Given the description of an element on the screen output the (x, y) to click on. 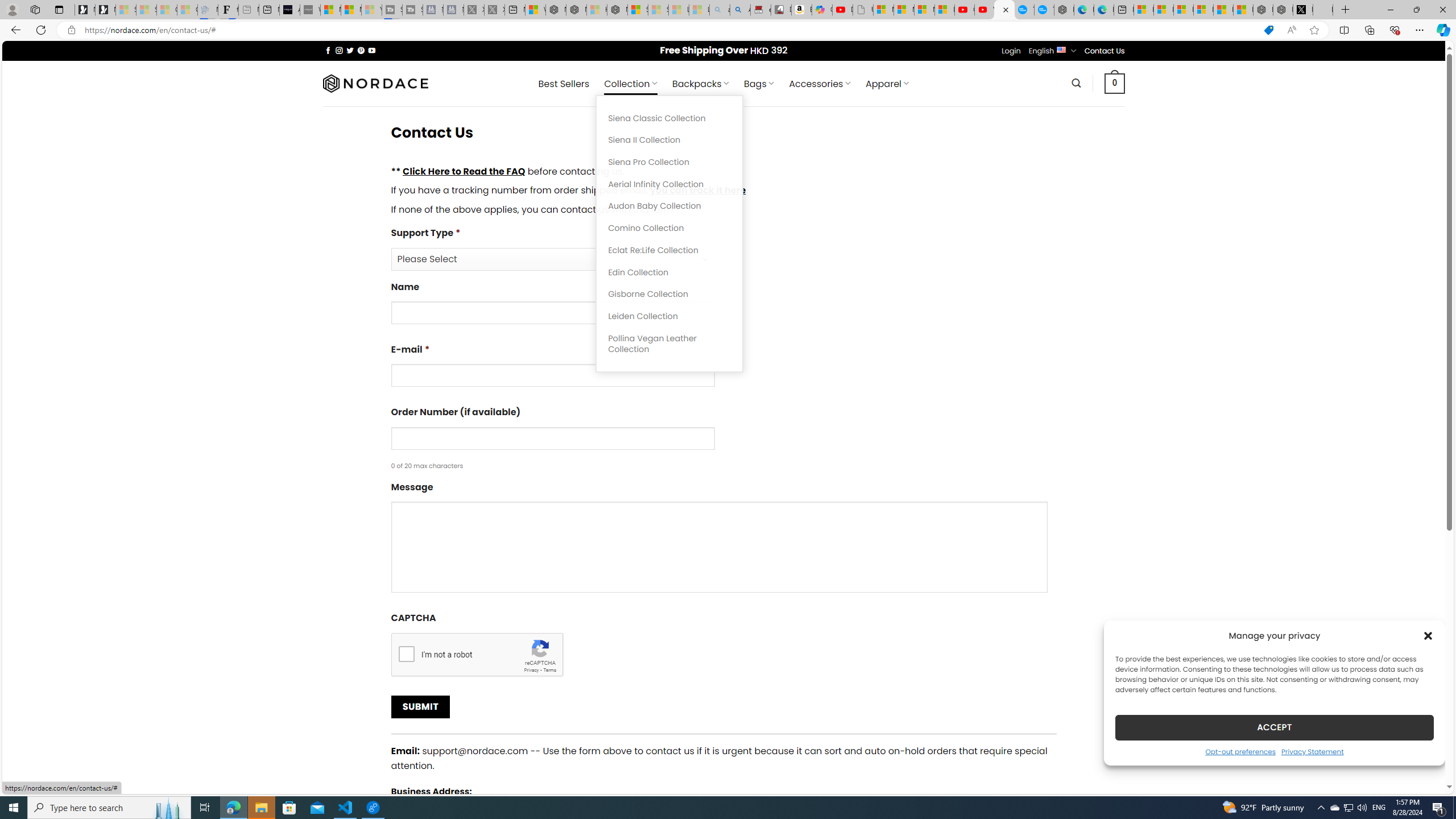
Microsoft account | Privacy (1203, 9)
Comino Collection (669, 228)
E-mail* (552, 375)
Pollina Vegan Leather Collection (669, 343)
Contact Us (1104, 50)
YouTube Kids - An App Created for Kids to Explore Content (983, 9)
